Given the description of an element on the screen output the (x, y) to click on. 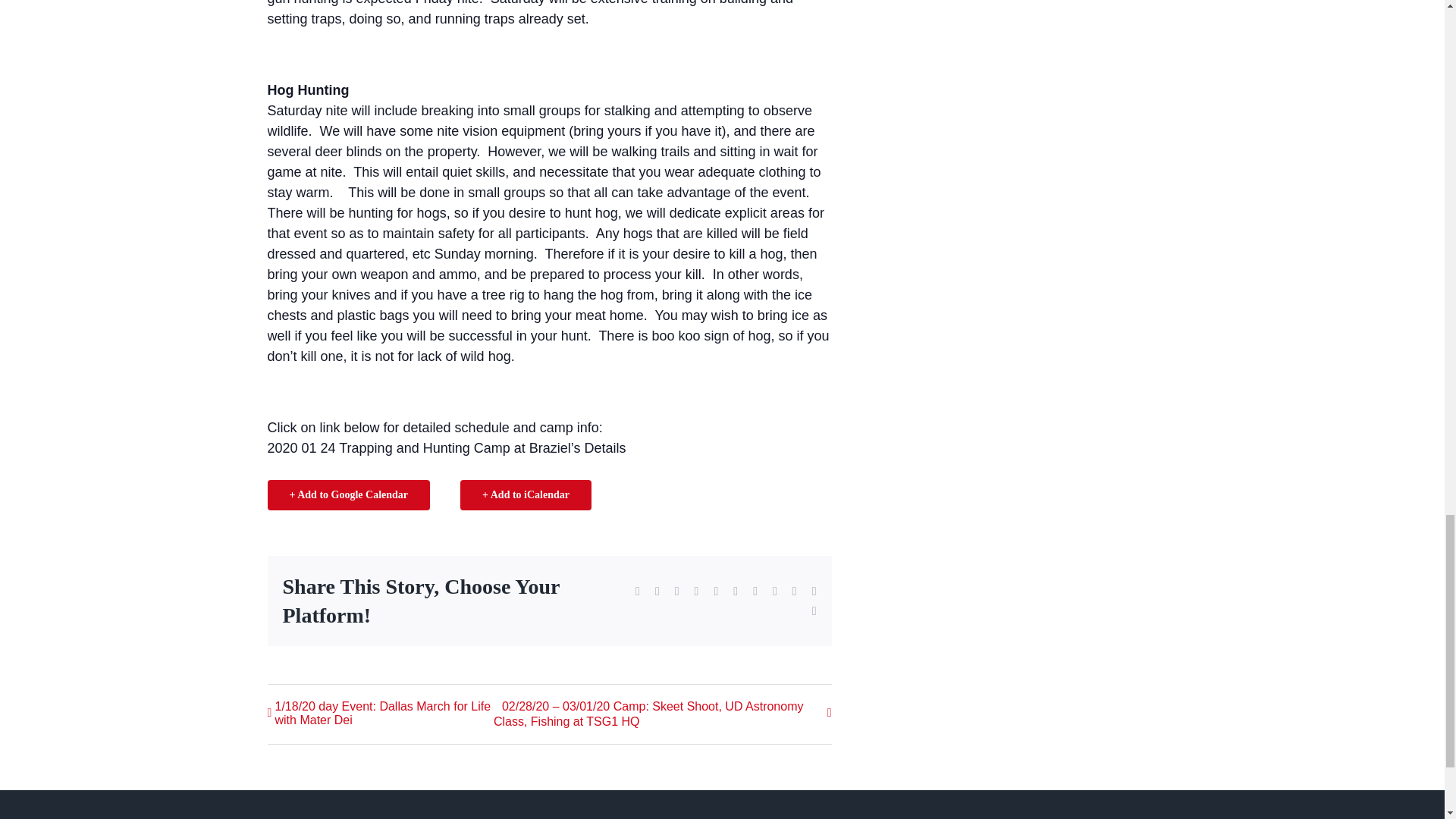
Add to Google Calendar (347, 494)
Add to iCalendar (525, 494)
